Given the description of an element on the screen output the (x, y) to click on. 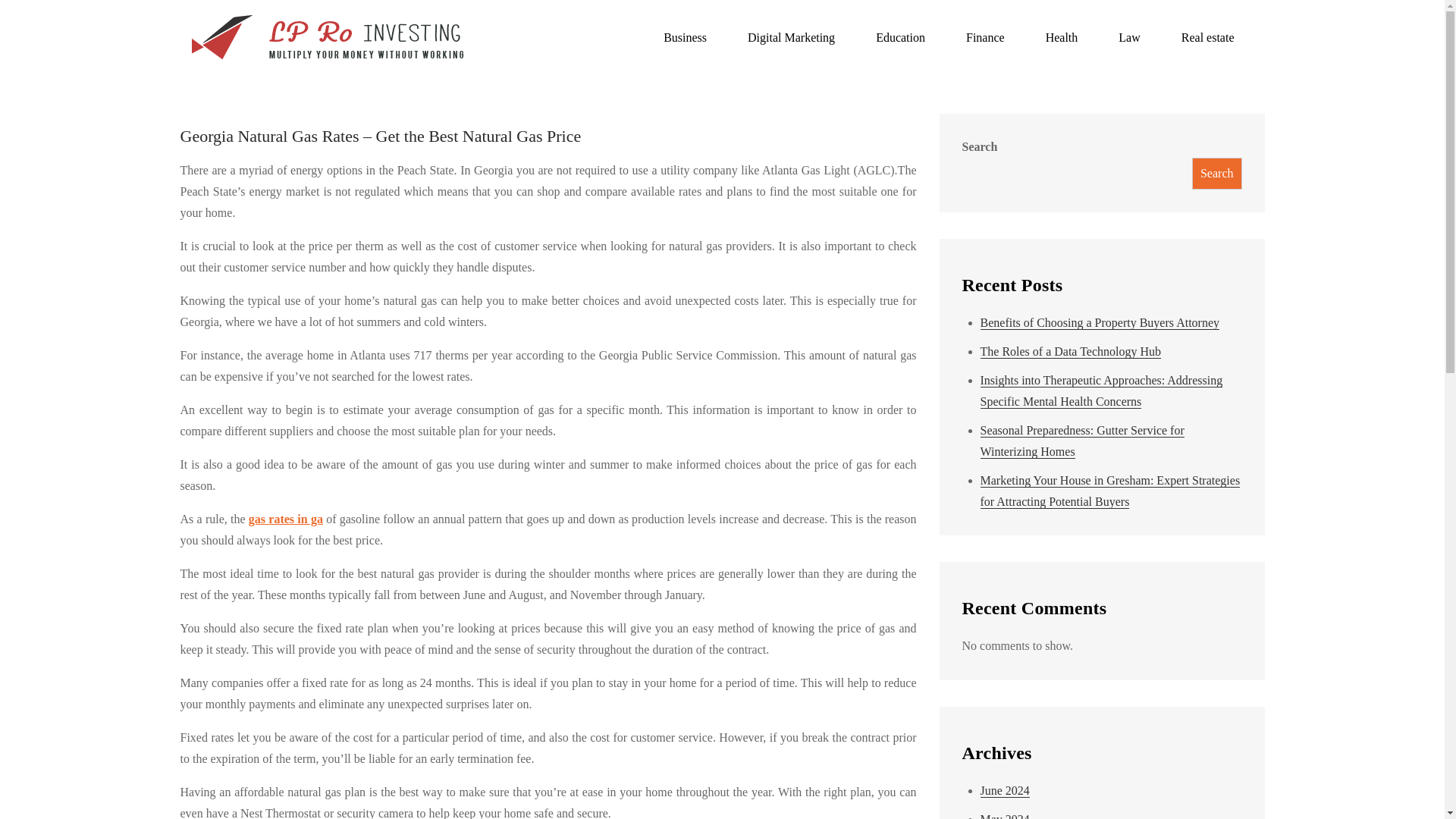
Business (685, 38)
June 2024 (1004, 790)
Search (1216, 173)
Digital Marketing (791, 38)
Real estate (1207, 38)
gas rates in ga (285, 518)
The Roles of a Data Technology Hub (1069, 351)
Finance (985, 38)
